Given the description of an element on the screen output the (x, y) to click on. 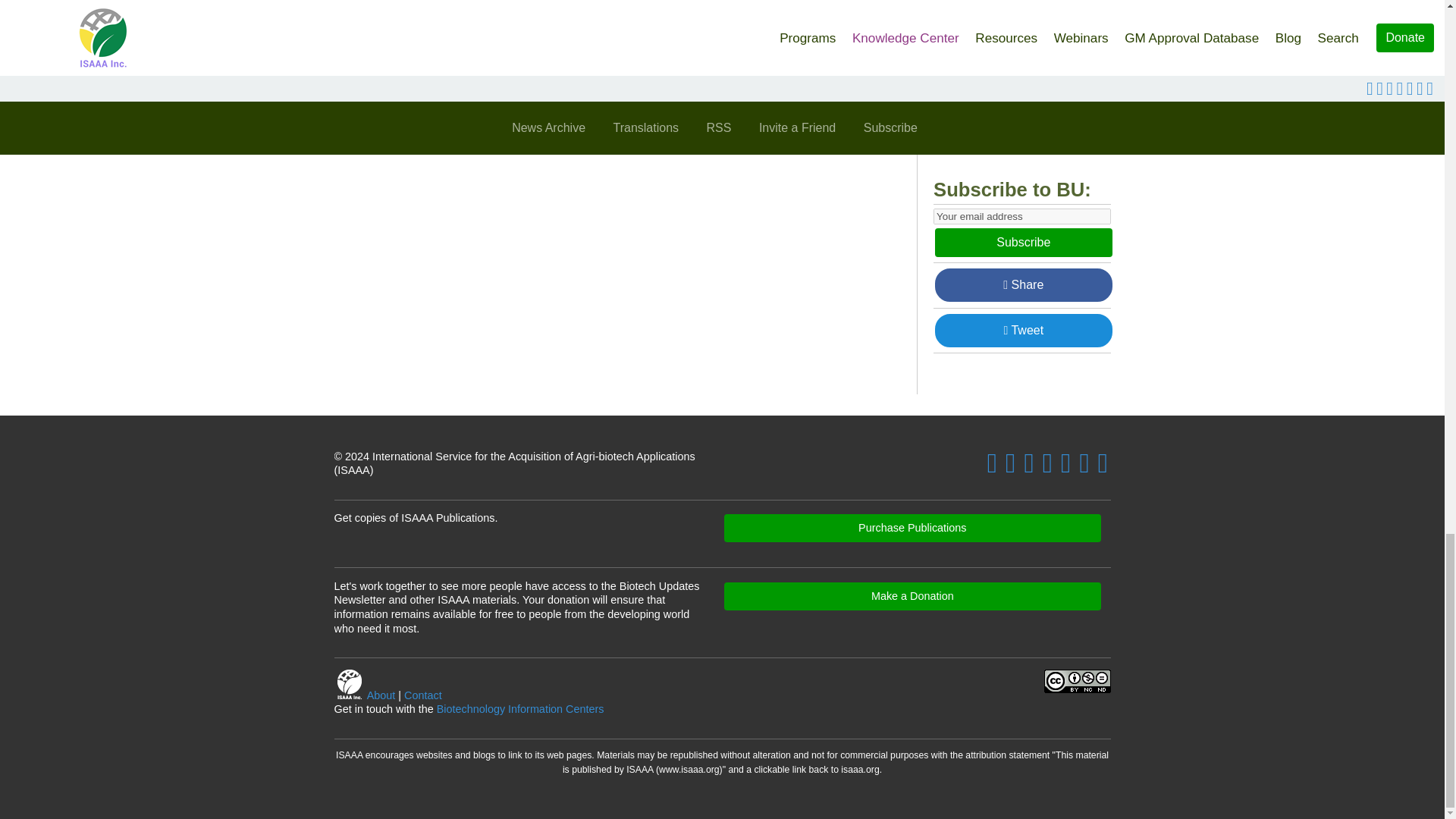
Your email address (1021, 216)
